Given the description of an element on the screen output the (x, y) to click on. 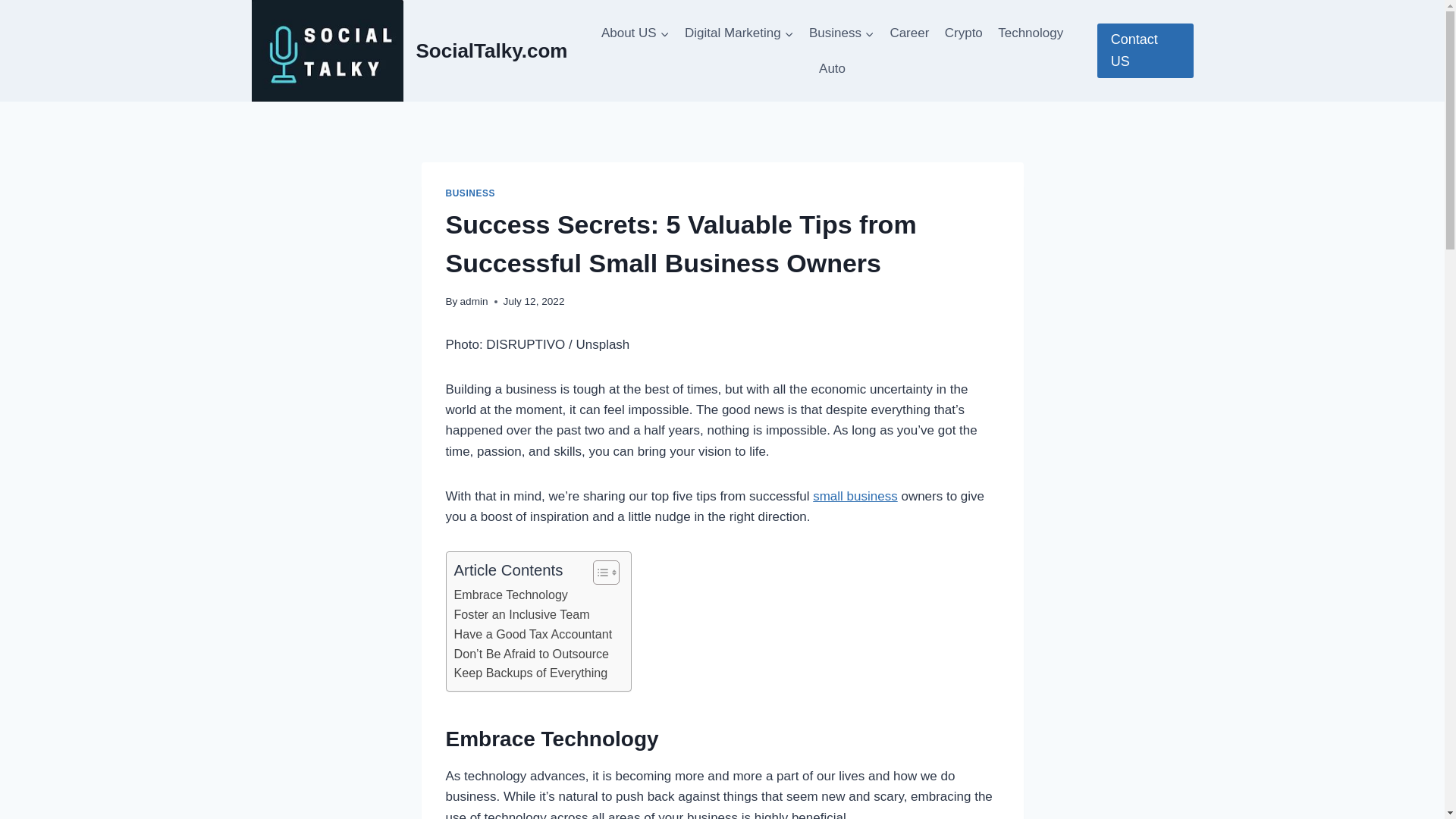
Career (909, 33)
Embrace Technology  (511, 595)
Crypto (963, 33)
Have a Good Tax Accountant  (533, 634)
Business (842, 33)
Keep Backups of Everything  (531, 673)
admin (473, 301)
Foster an Inclusive Team (520, 614)
Technology (1030, 33)
SocialTalky.com (409, 50)
Auto (831, 68)
BUSINESS (470, 193)
Foster an Inclusive Team (520, 614)
